Given the description of an element on the screen output the (x, y) to click on. 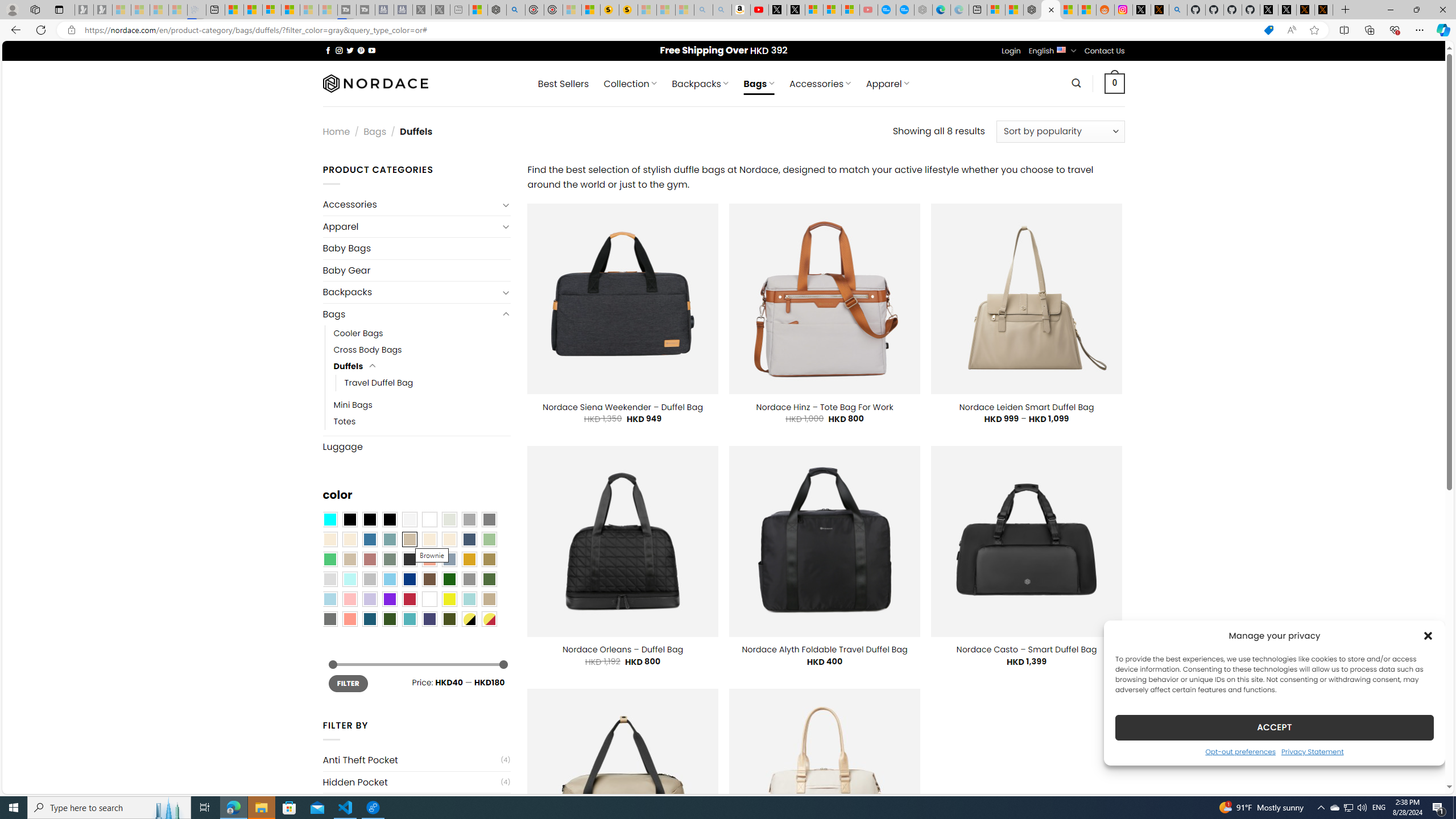
Travel Duffel Bag (378, 382)
Follow on Twitter (349, 49)
 0  (1115, 83)
Charcoal (408, 559)
Luggage (416, 445)
Purple (389, 599)
Follow on Instagram (338, 49)
Pearly White (408, 519)
Shanghai, China Weather trends | Microsoft Weather (1086, 9)
